Given the description of an element on the screen output the (x, y) to click on. 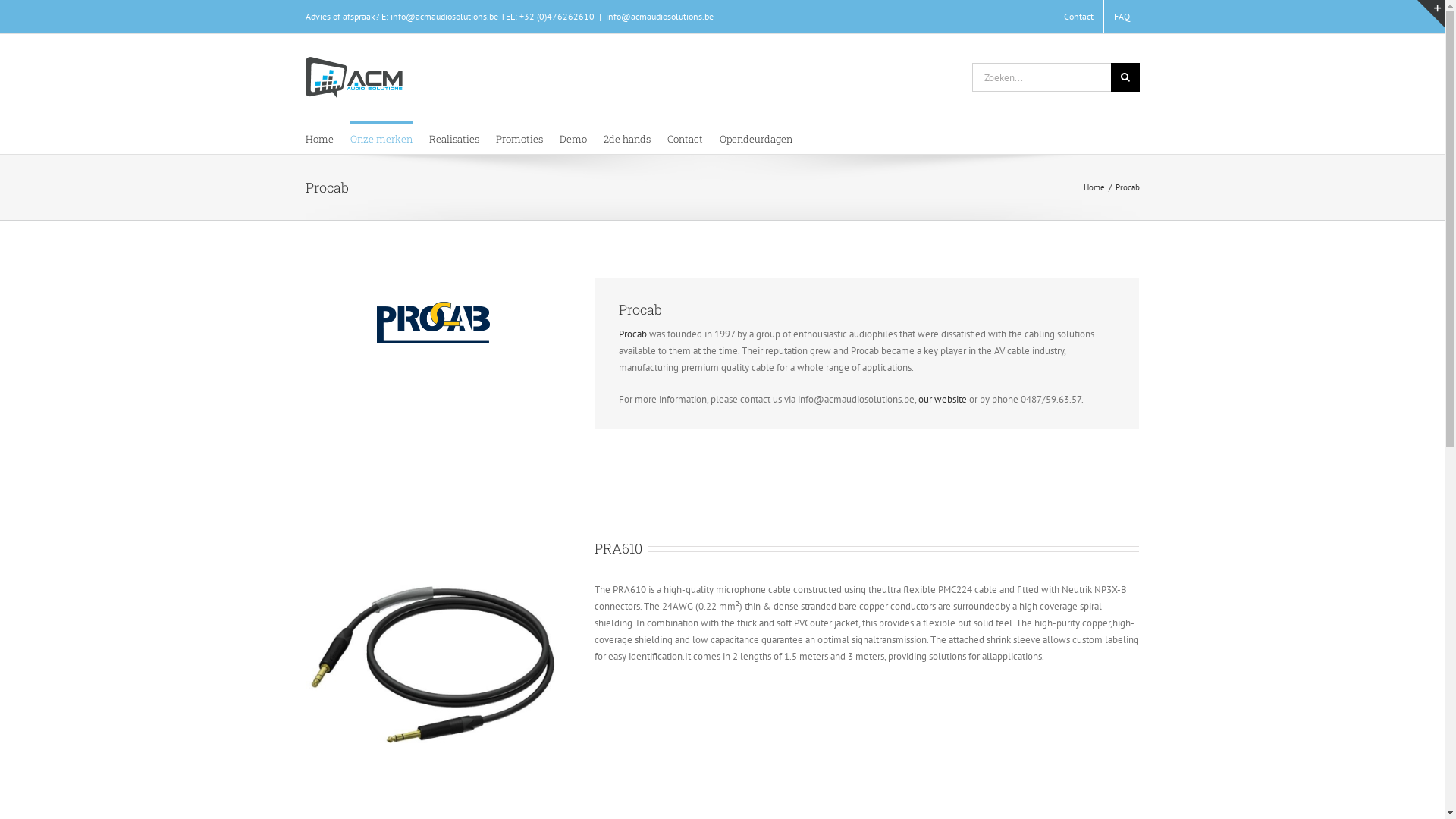
Procab Element type: hover (432, 321)
Contact Element type: text (1078, 16)
2de hands Element type: text (626, 137)
Jack male stereo Element type: hover (432, 665)
Onze merken Element type: text (381, 137)
Toggle Sliding Bar Area Element type: text (1430, 13)
FAQ Element type: text (1121, 16)
our website Element type: text (942, 398)
Contact Element type: text (684, 137)
Demo Element type: text (572, 137)
info@acmaudiosolutions.be Element type: text (658, 15)
Procab Element type: text (632, 333)
Home Element type: text (1093, 187)
Opendeurdagen Element type: text (754, 137)
Realisaties Element type: text (454, 137)
Promoties Element type: text (518, 137)
Home Element type: text (318, 137)
